Given the description of an element on the screen output the (x, y) to click on. 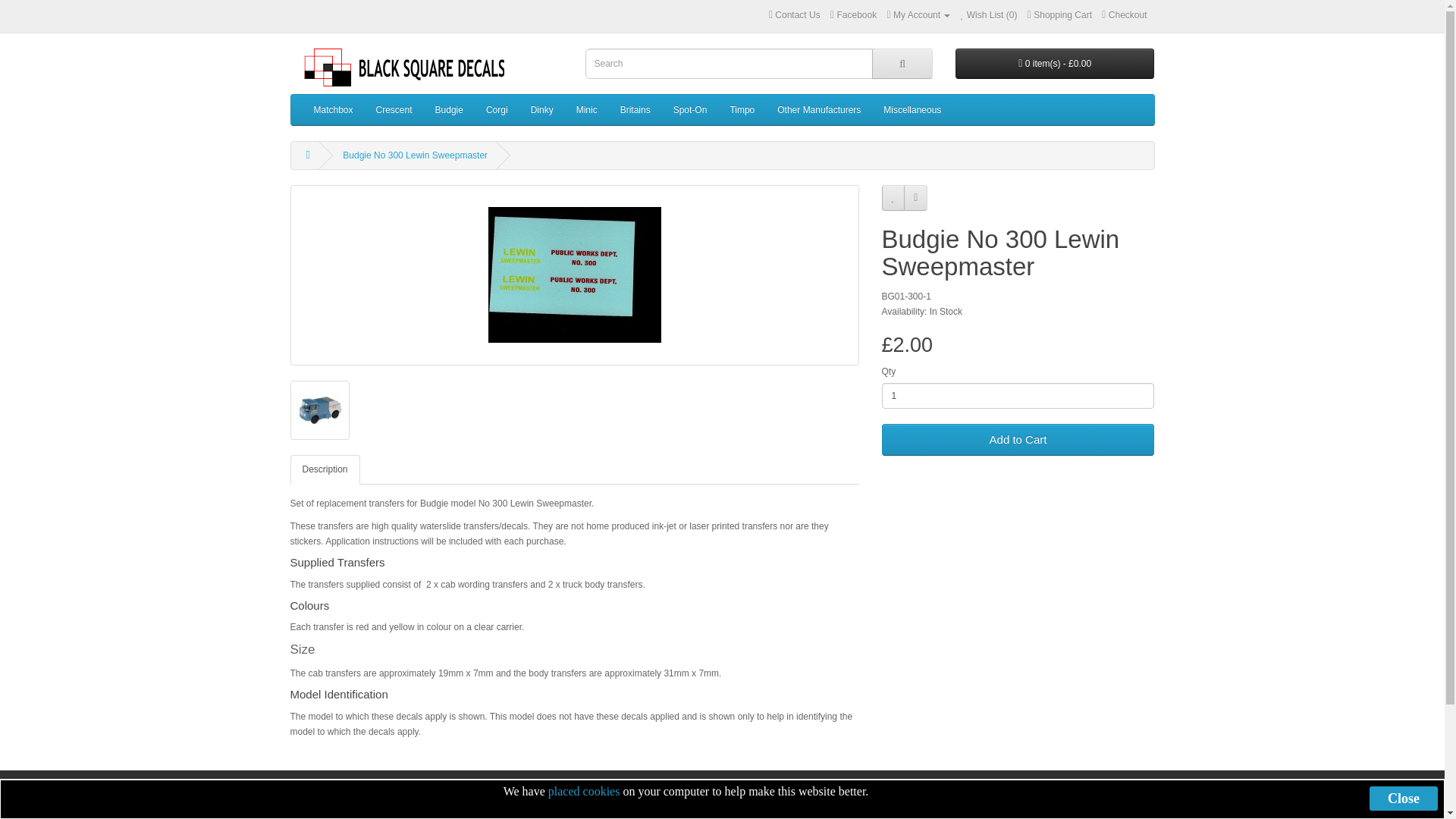
Budgie No 300 Lewin Sweepmaster (319, 409)
Budgie No 300 Lewin Sweepmaster (574, 275)
Checkout (1124, 14)
My Account (918, 14)
Crescent (394, 110)
Minic (586, 110)
Dinky (541, 110)
Matchbox (332, 110)
Shopping Cart (1059, 14)
Corgi (496, 110)
Checkout (1124, 14)
Contact Us (770, 14)
Budgie No 300 Lewin Sweepmaster (318, 409)
Budgie No 300 Lewin Sweepmaster (574, 275)
Shopping Cart (1059, 14)
